Given the description of an element on the screen output the (x, y) to click on. 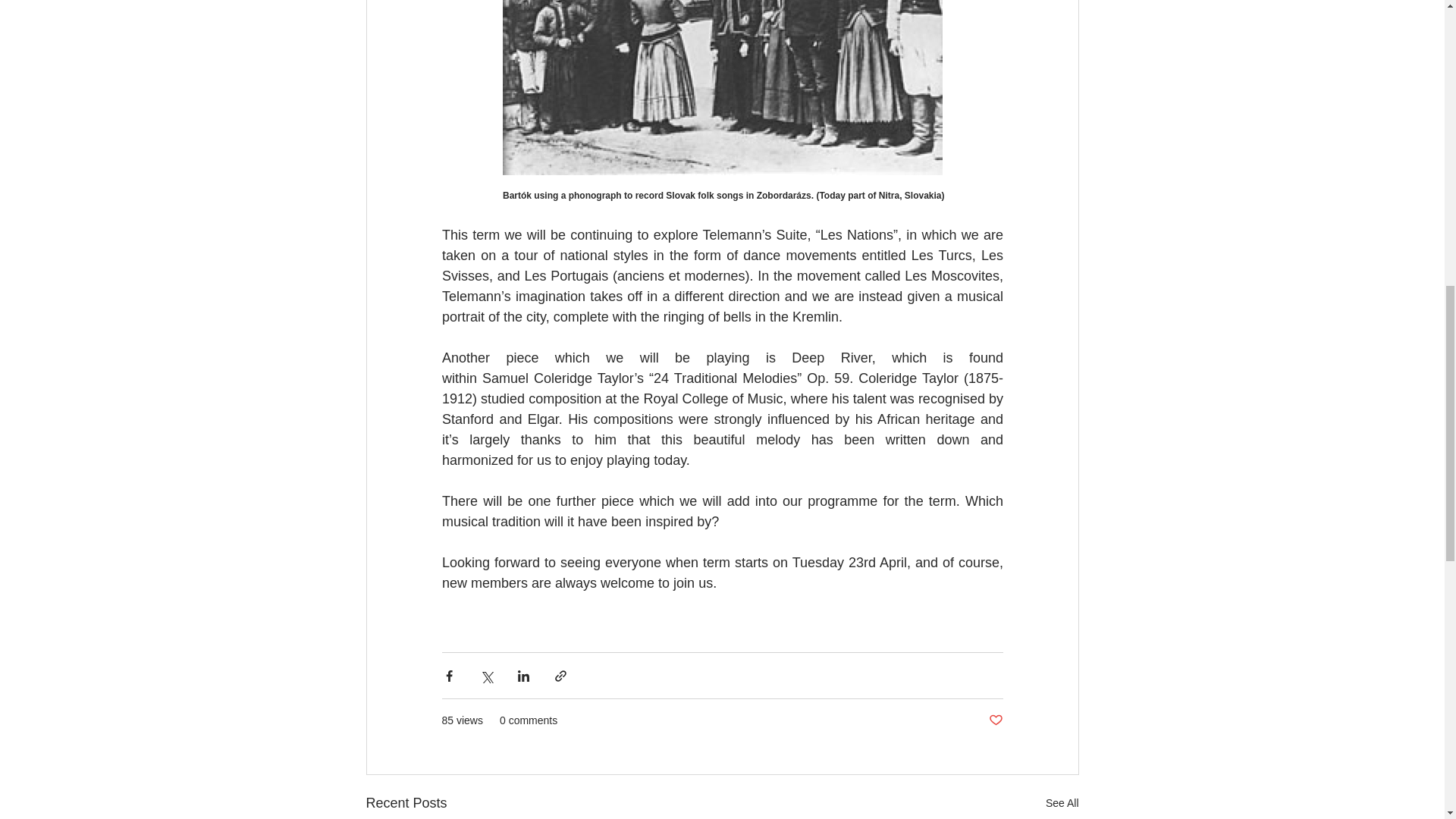
See All (1061, 803)
Post not marked as liked (995, 720)
